Given the description of an element on the screen output the (x, y) to click on. 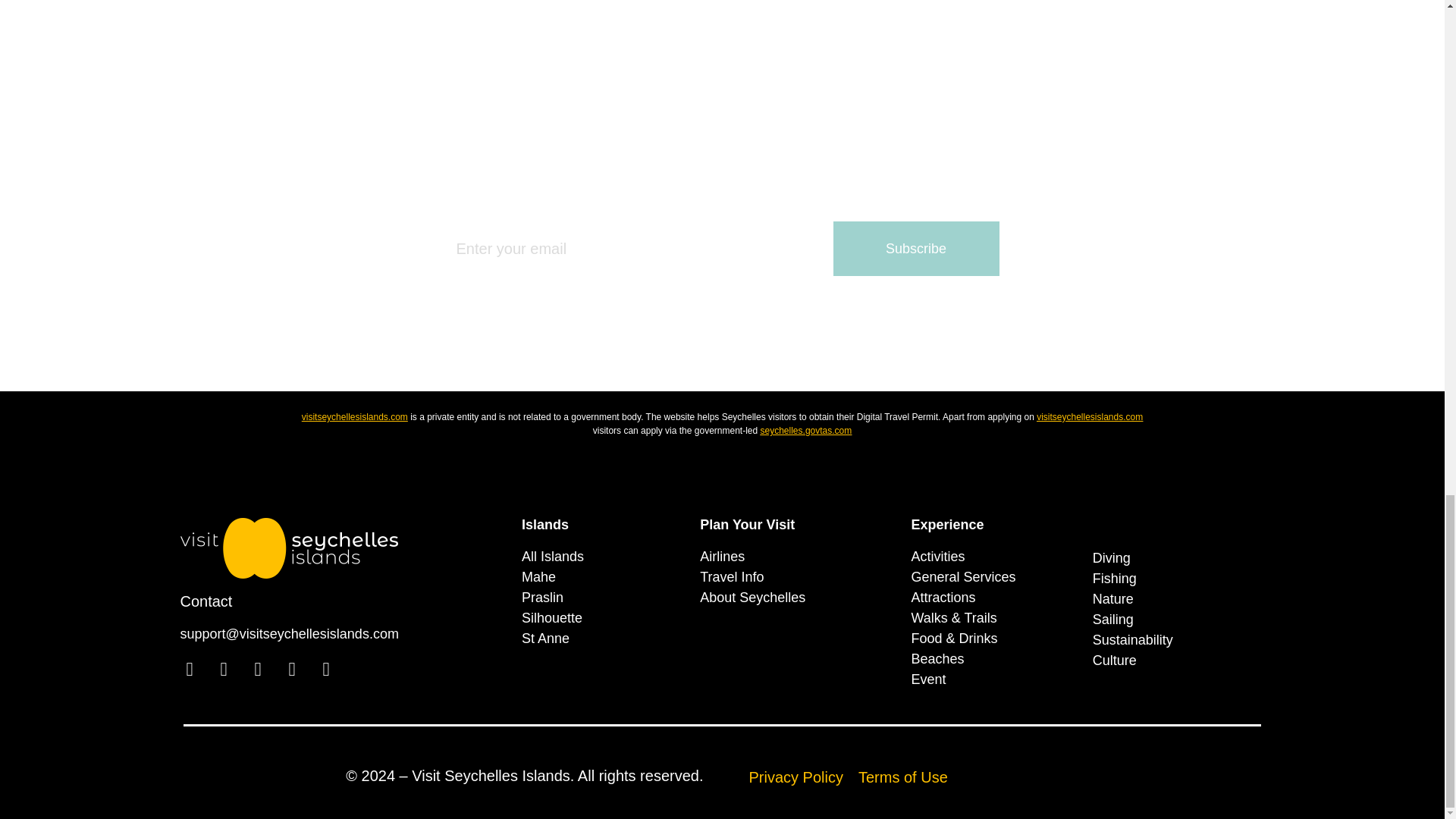
Silhouette (602, 618)
Privacy Policy (796, 776)
visitseychellesislands.com (354, 416)
Mahe (602, 577)
seychelles.govtas.com (805, 430)
visitseychellesislands.com (1089, 416)
Praslin (602, 598)
St Anne (602, 638)
Terms of Use (903, 776)
Subscribe (915, 248)
Airlines (797, 557)
All Islands (602, 557)
